Given the description of an element on the screen output the (x, y) to click on. 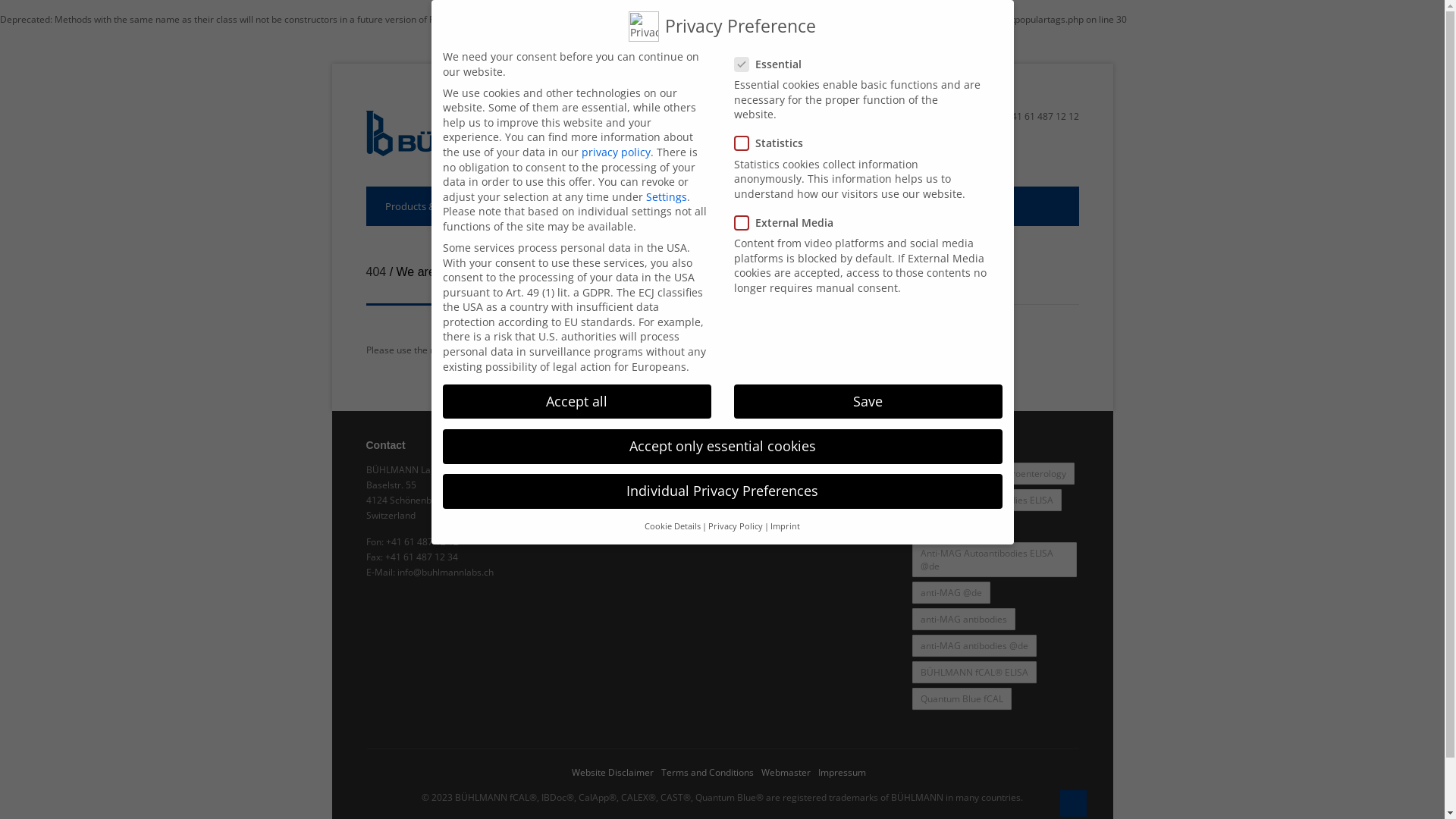
Save Element type: text (868, 401)
linkedin Element type: text (741, 472)
Imprint Element type: text (785, 525)
News & Events Element type: text (625, 205)
Website Disclaimer Element type: text (612, 771)
Privacy Policy Element type: text (735, 525)
anti-MAG antibodies @de Element type: text (973, 645)
Support Element type: text (536, 205)
Anti-MAG Autoantibodies ELISA Element type: text (985, 500)
info@buhlmannlabs.ch Element type: text (926, 115)
Cookie Details Element type: text (672, 525)
Quantum Blue fCAL Element type: text (960, 698)
About Us Element type: text (717, 205)
Gastroenterology Element type: text (1027, 473)
Contact Element type: text (794, 205)
anti-MAG antibodies Element type: text (962, 619)
anti-MAG Element type: text (939, 526)
Impressum Element type: text (841, 771)
anti-MAG @de Element type: text (950, 592)
privacy policy Element type: text (614, 151)
Open Cookie Preferences Element type: hover (33, 799)
Careers Element type: text (564, 499)
Accept only essential cookies Element type: text (722, 446)
Webmaster Element type: text (785, 771)
Settings Element type: text (666, 196)
Accept all Element type: text (576, 401)
Anti-MAG Autoantibodies ELISA @de Element type: text (993, 559)
calprotectin Element type: text (944, 473)
Products & Solutions Element type: text (431, 205)
Quality Statement Element type: text (585, 484)
Individual Privacy Preferences Element type: text (722, 490)
Terms and Conditions Element type: text (707, 771)
Location Element type: text (565, 469)
